Given the description of an element on the screen output the (x, y) to click on. 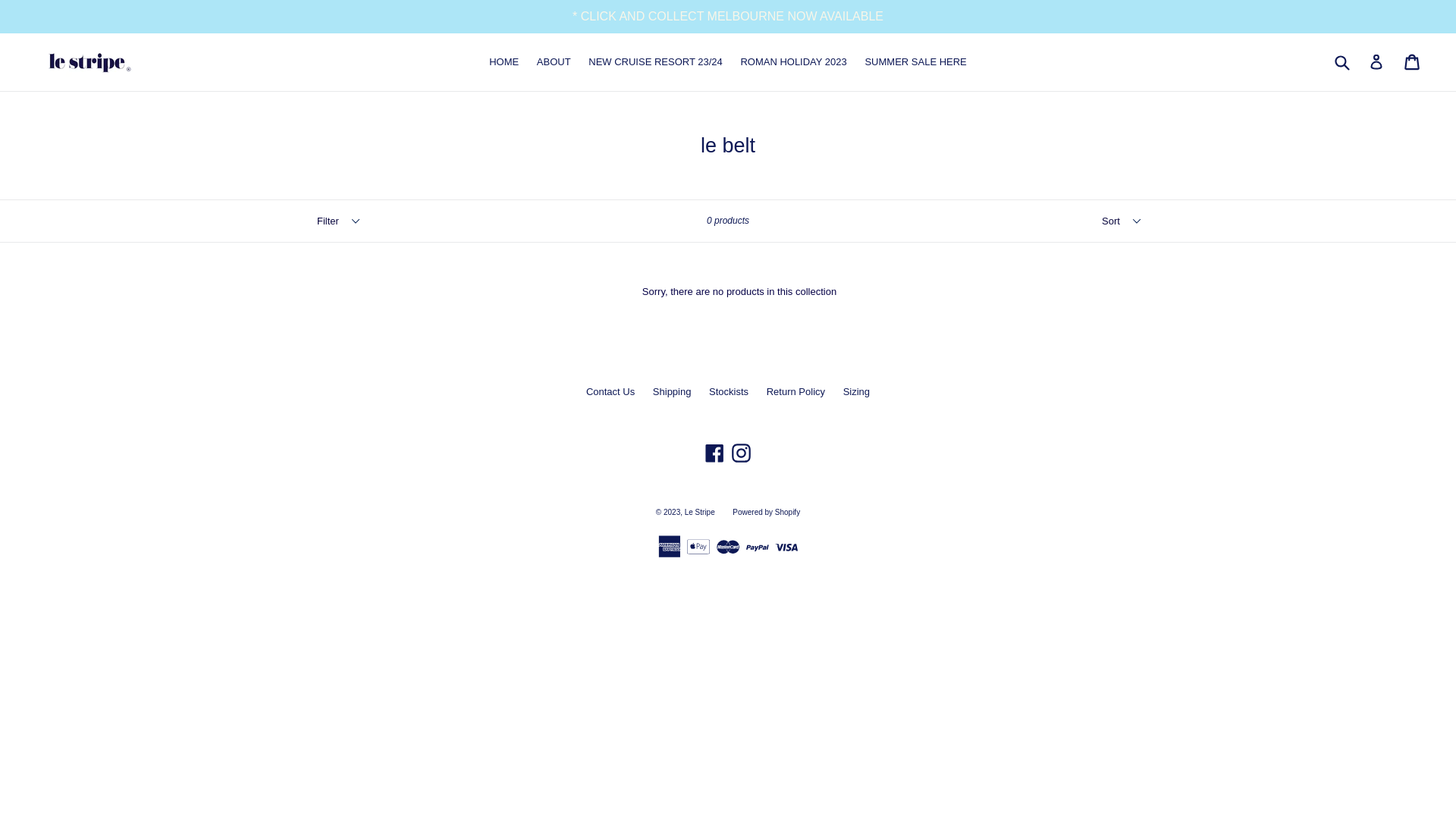
Shipping Element type: text (671, 391)
Sizing Element type: text (856, 391)
HOME Element type: text (503, 62)
Cart
Cart Element type: text (1412, 61)
ROMAN HOLIDAY 2023 Element type: text (792, 62)
Contact Us Element type: text (610, 391)
Log in Element type: text (1375, 61)
SUMMER SALE HERE Element type: text (914, 62)
ABOUT Element type: text (553, 62)
Facebook Element type: text (714, 452)
Instagram Element type: text (741, 452)
Return Policy Element type: text (795, 391)
Submit Element type: text (1341, 61)
Le Stripe Element type: text (699, 512)
NEW CRUISE RESORT 23/24 Element type: text (655, 62)
Stockists Element type: text (728, 391)
Powered by Shopify Element type: text (766, 512)
